Given the description of an element on the screen output the (x, y) to click on. 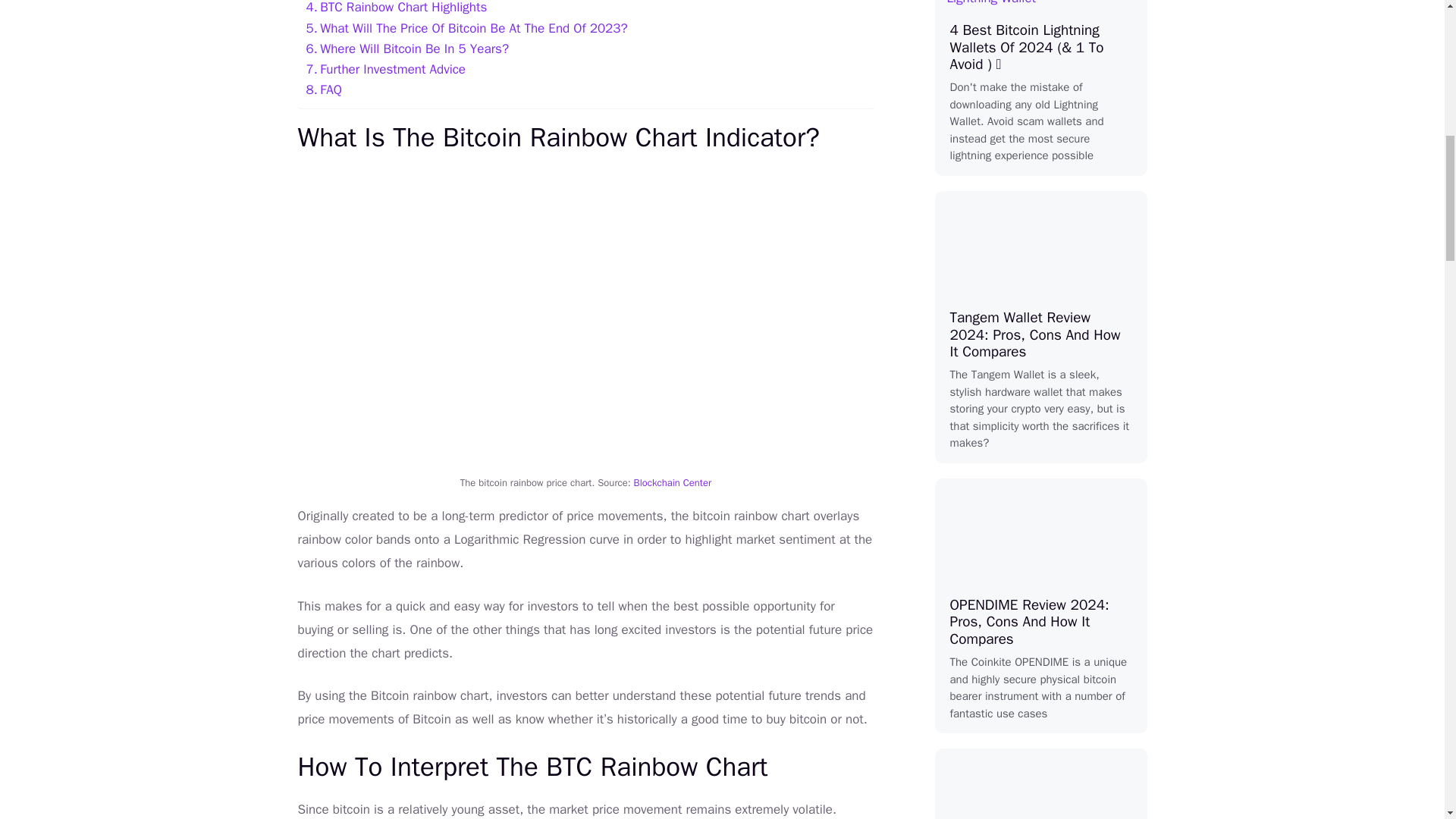
BTC Rainbow Chart Highlights (396, 8)
Further Investment Advice (385, 68)
Where Will Bitcoin Be In 5 Years? (407, 48)
What Will The Price Of Bitcoin Be At The End Of 2023? (466, 28)
FAQ (323, 89)
